Given the description of an element on the screen output the (x, y) to click on. 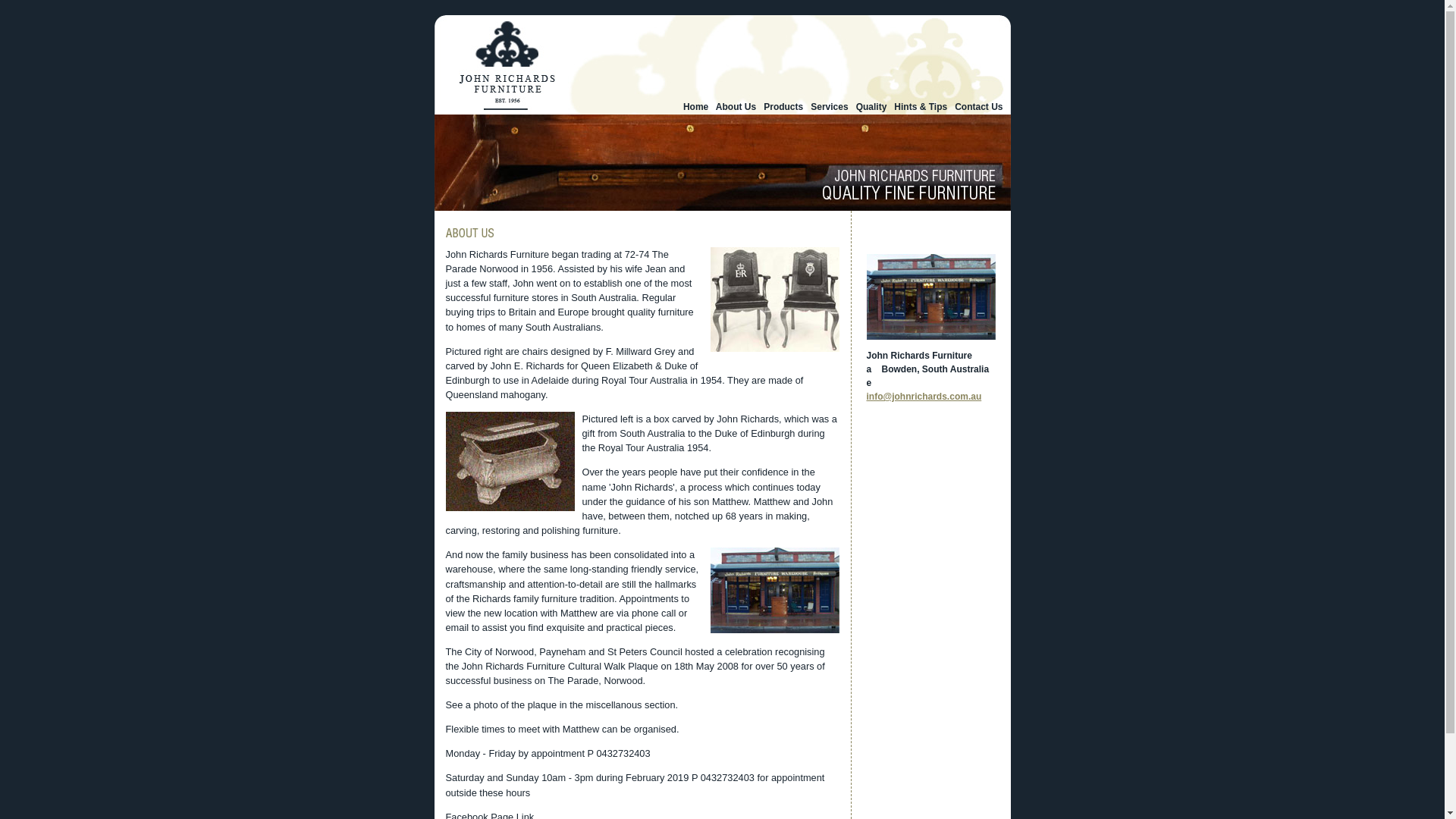
Home Element type: text (695, 106)
Services Element type: text (828, 106)
Contact Us Element type: text (978, 106)
info@johnrichards.com.au Element type: text (923, 396)
Hints & Tips Element type: text (920, 106)
About Us Element type: text (735, 106)
Quality Element type: text (871, 106)
Products Element type: text (783, 106)
